Given the description of an element on the screen output the (x, y) to click on. 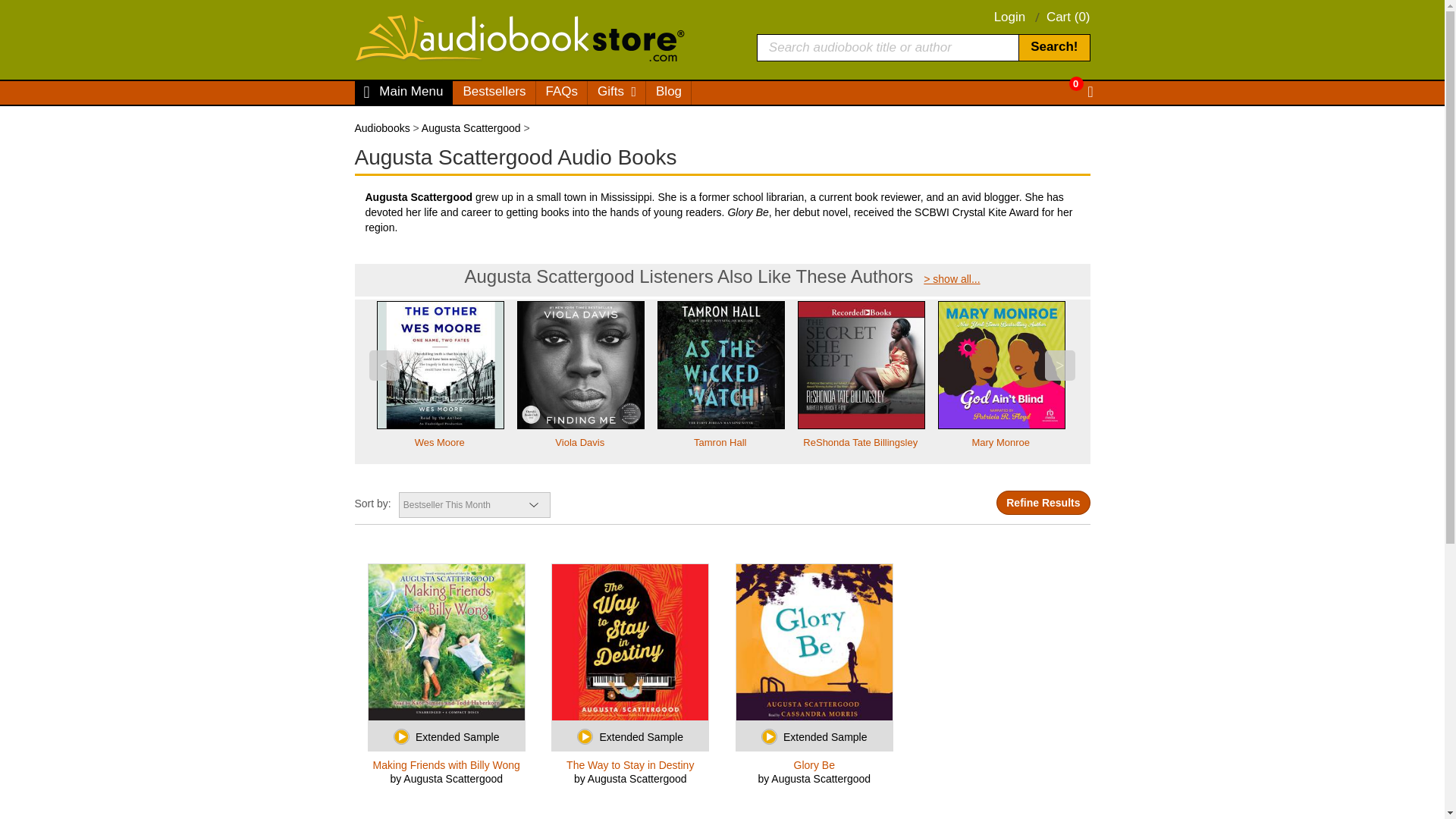
Search! (1053, 47)
Shopping cart (1066, 83)
Making Friends with Billy Wong (446, 764)
The Way to Stay in Destiny (630, 764)
Glory Be (813, 764)
Shopping cart (1068, 16)
Shopping cart (1080, 92)
